Given the description of an element on the screen output the (x, y) to click on. 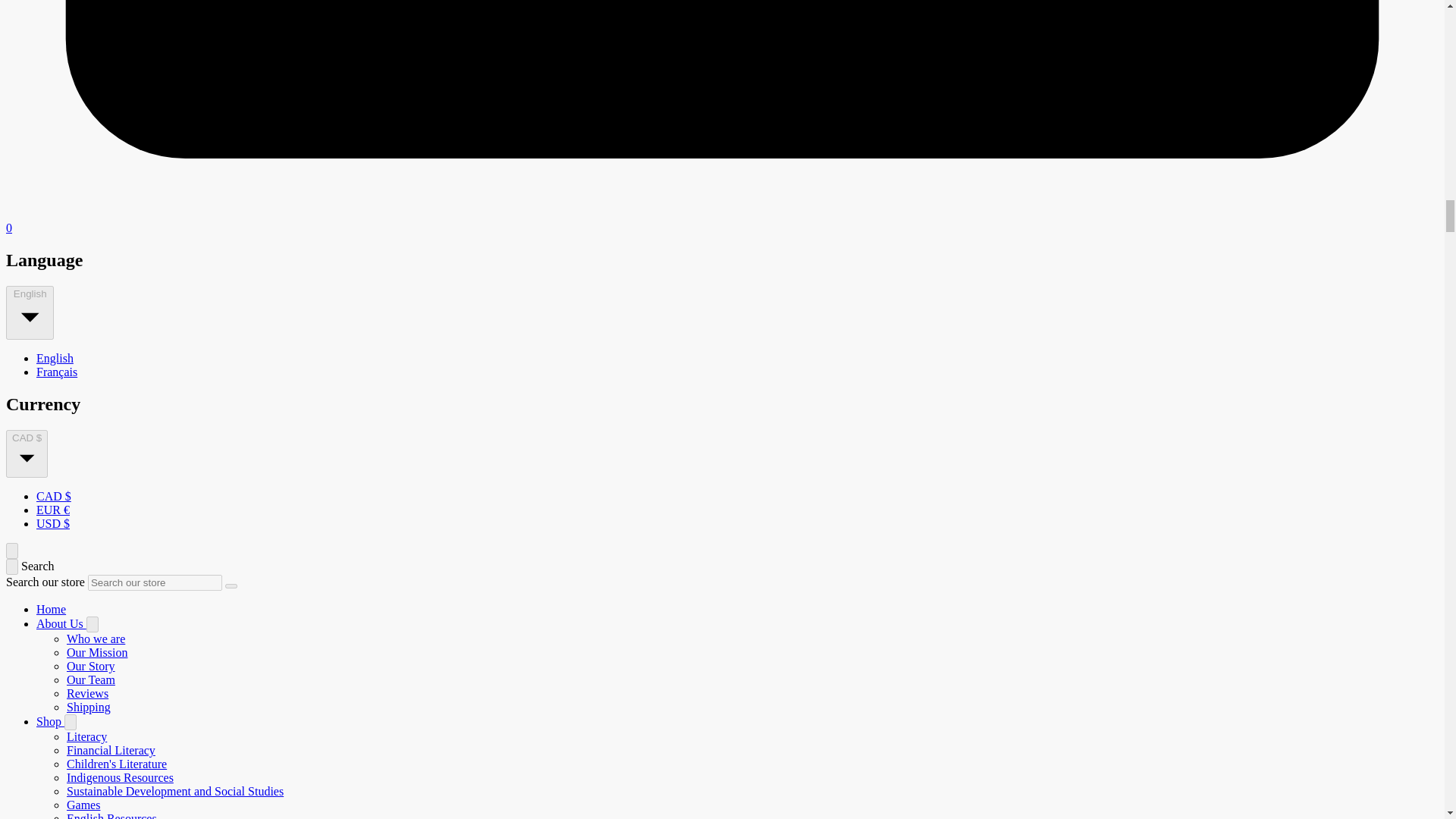
Shipping (88, 707)
English (55, 358)
Shop (50, 721)
About Us (60, 623)
Our Story (90, 666)
Who we are (95, 638)
English (29, 312)
Home (50, 608)
Reviews (86, 693)
Our Team (90, 679)
Our Mission (97, 652)
